Given the description of an element on the screen output the (x, y) to click on. 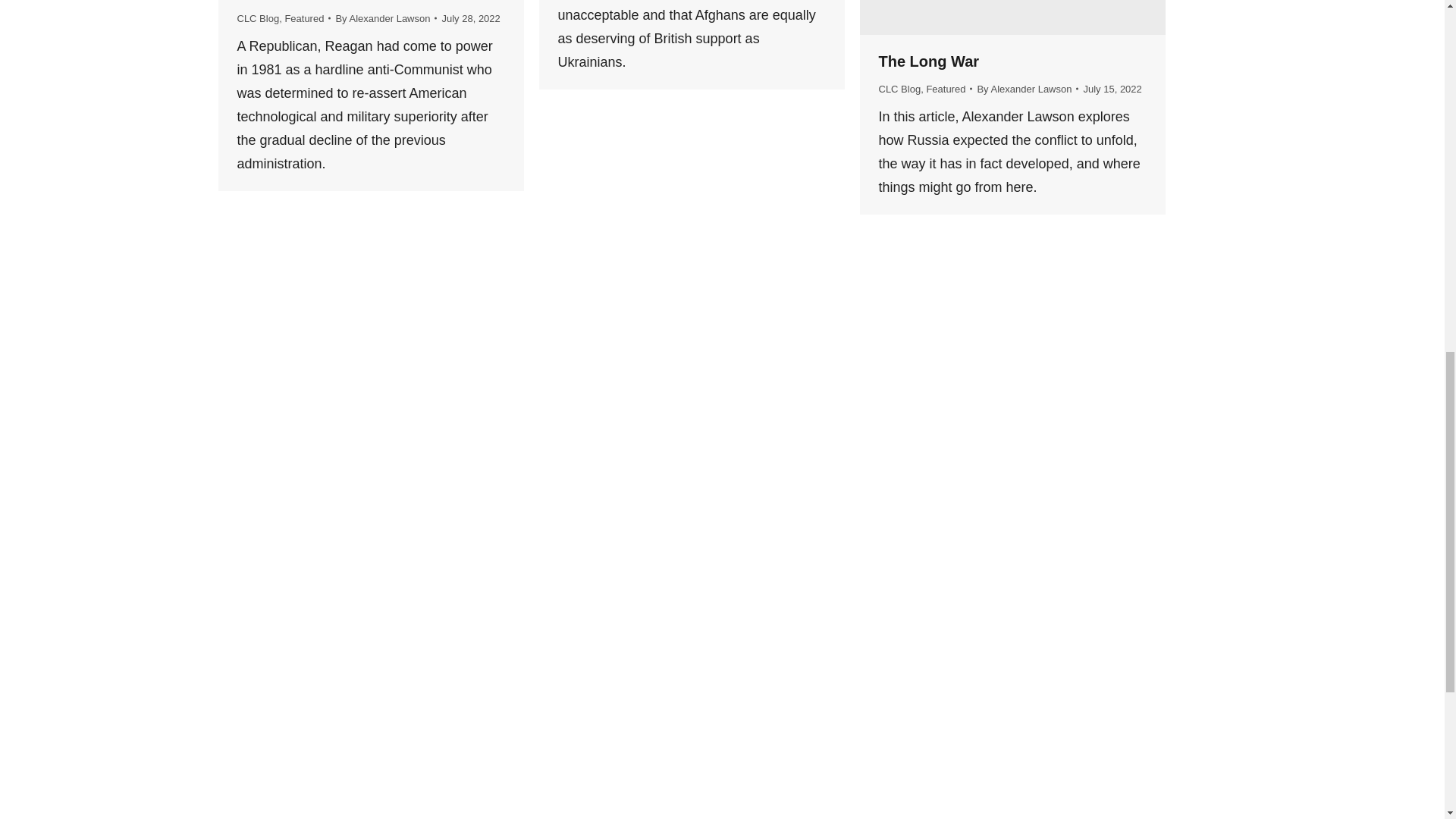
View all posts by Alexander Lawson (385, 18)
